Given the description of an element on the screen output the (x, y) to click on. 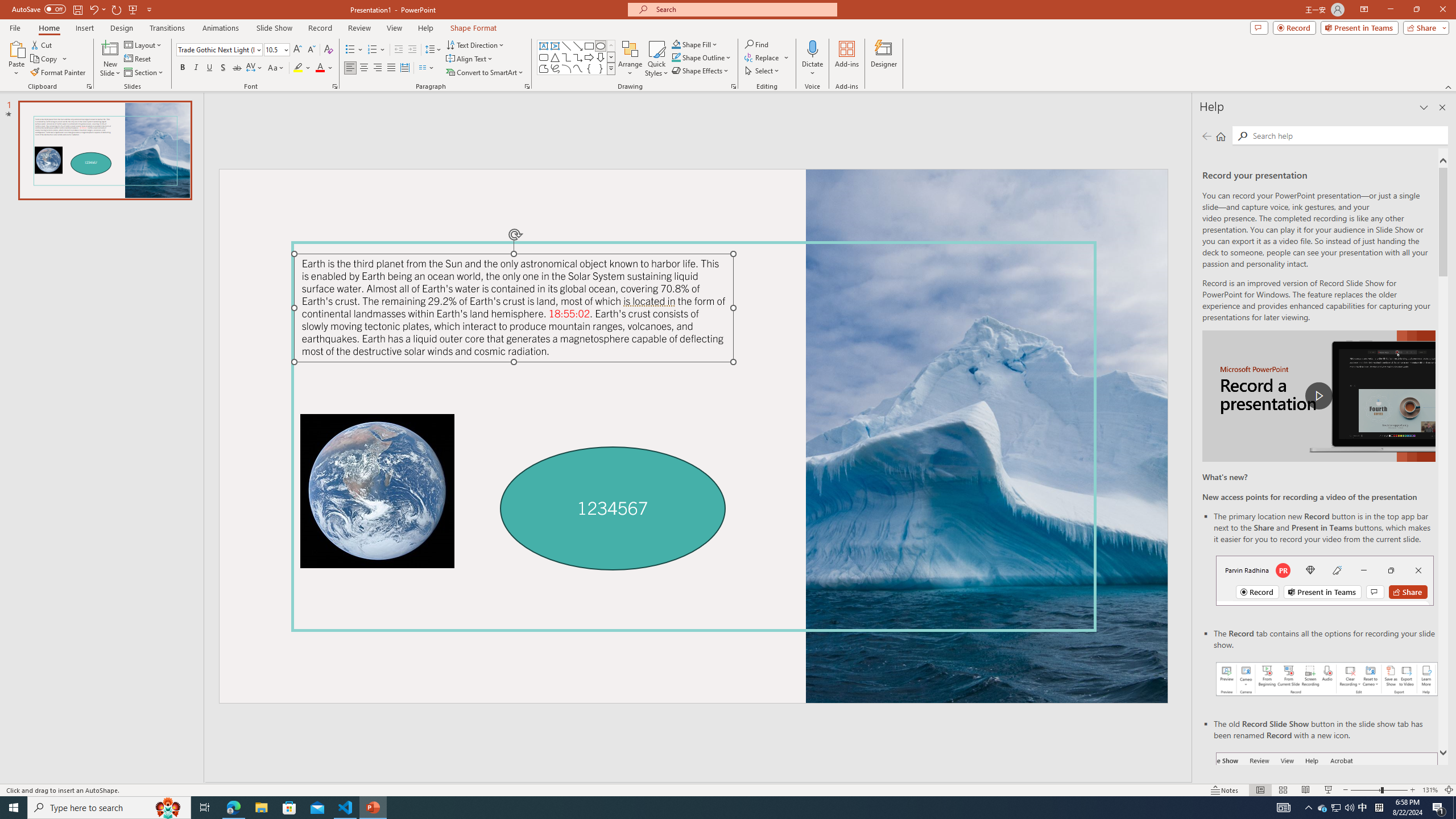
Character Spacing (254, 67)
Previous page (1206, 136)
Freeform: Shape (543, 68)
Record (320, 28)
Arrange (630, 58)
Increase Font Size (297, 49)
Convert to SmartArt (485, 72)
Line Arrow (577, 45)
Copy (45, 58)
Find... (756, 44)
Zoom to Fit  (1449, 790)
Save (77, 9)
Shape Format (473, 28)
Help (425, 28)
Class: NetUIImage (610, 68)
